Given the description of an element on the screen output the (x, y) to click on. 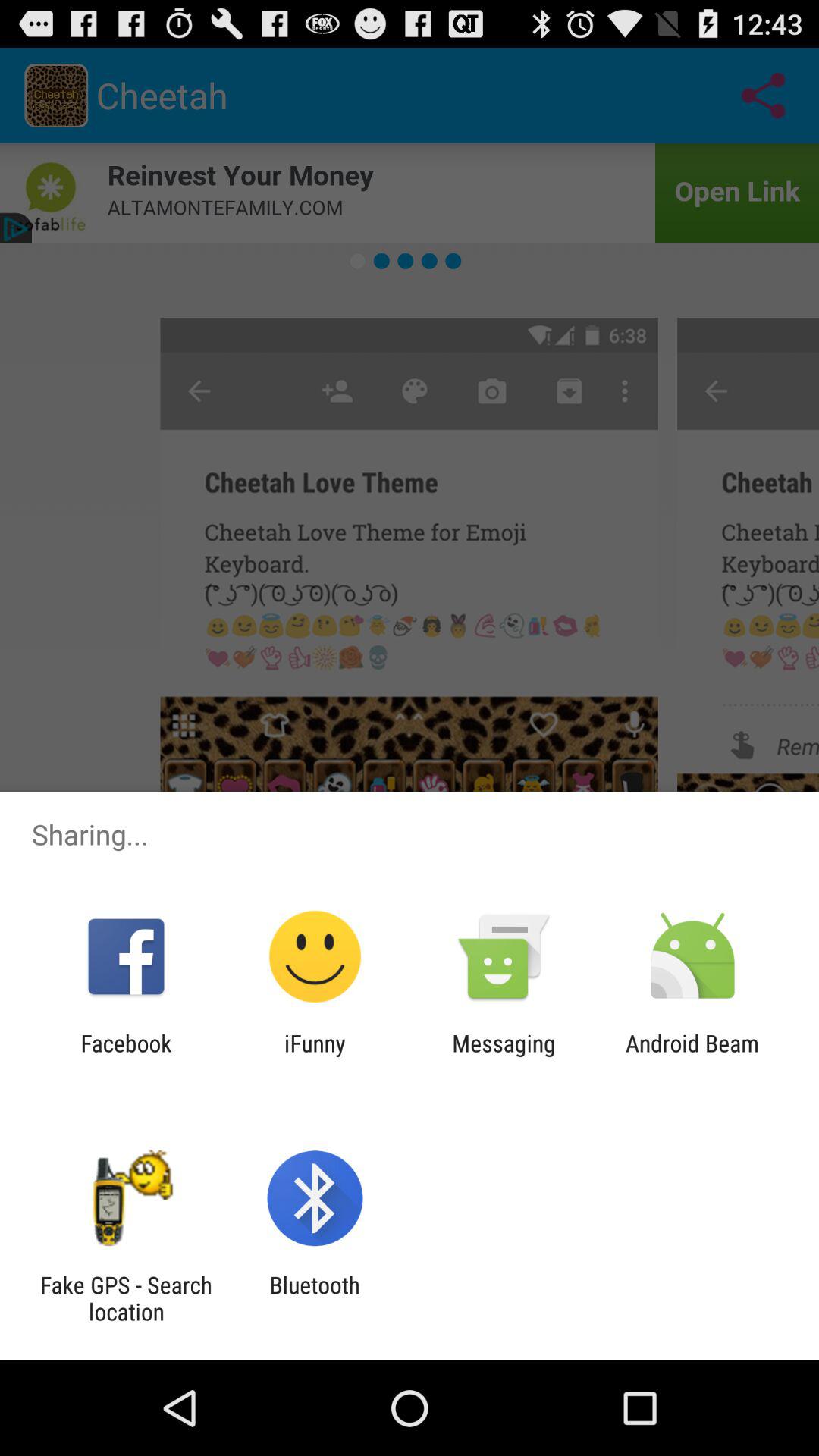
jump until the facebook item (125, 1056)
